Given the description of an element on the screen output the (x, y) to click on. 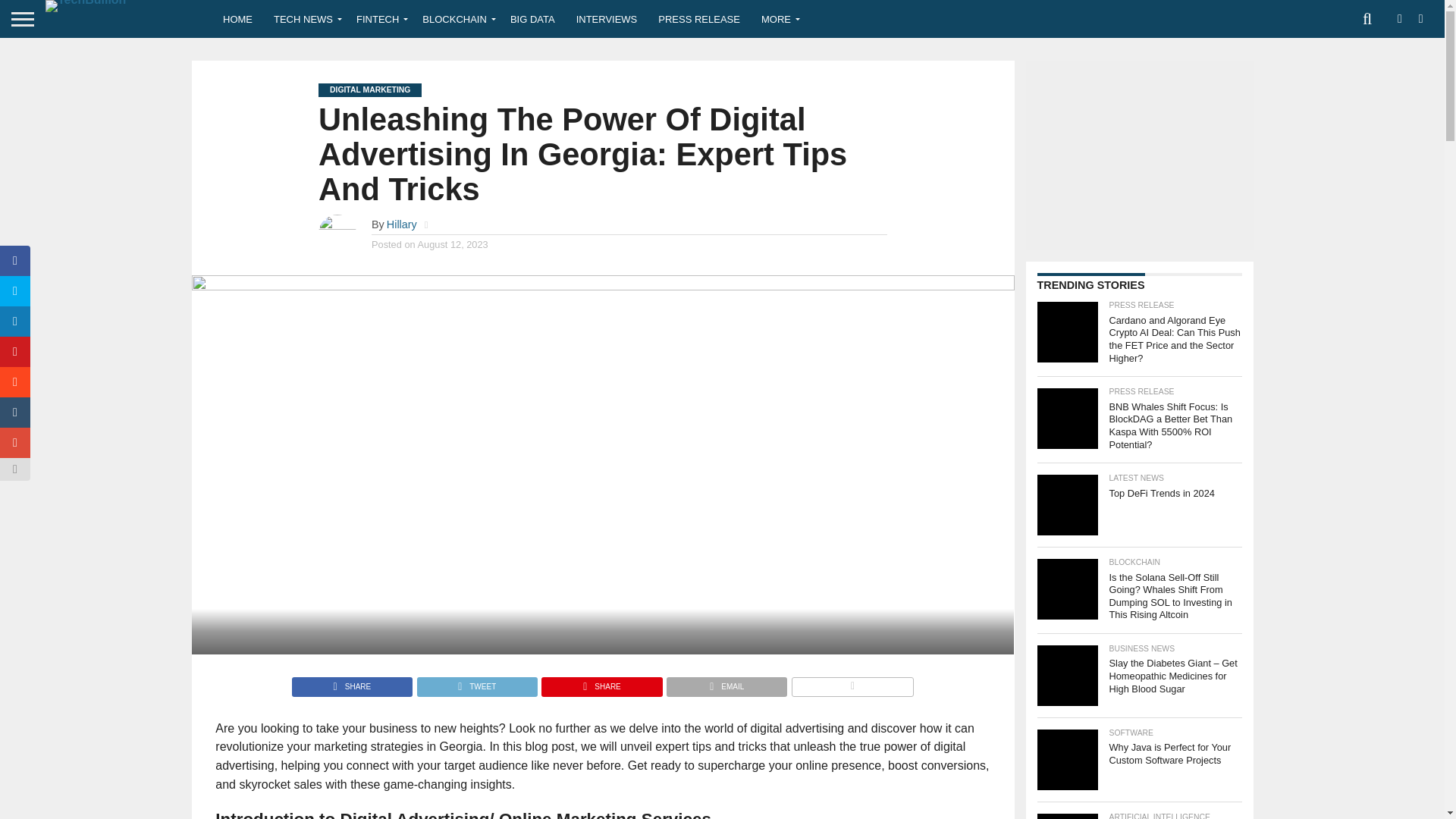
Pin This Post (601, 682)
Share on Facebook (352, 682)
Posts by Hillary (401, 224)
Tweet This Post (476, 682)
